Given the description of an element on the screen output the (x, y) to click on. 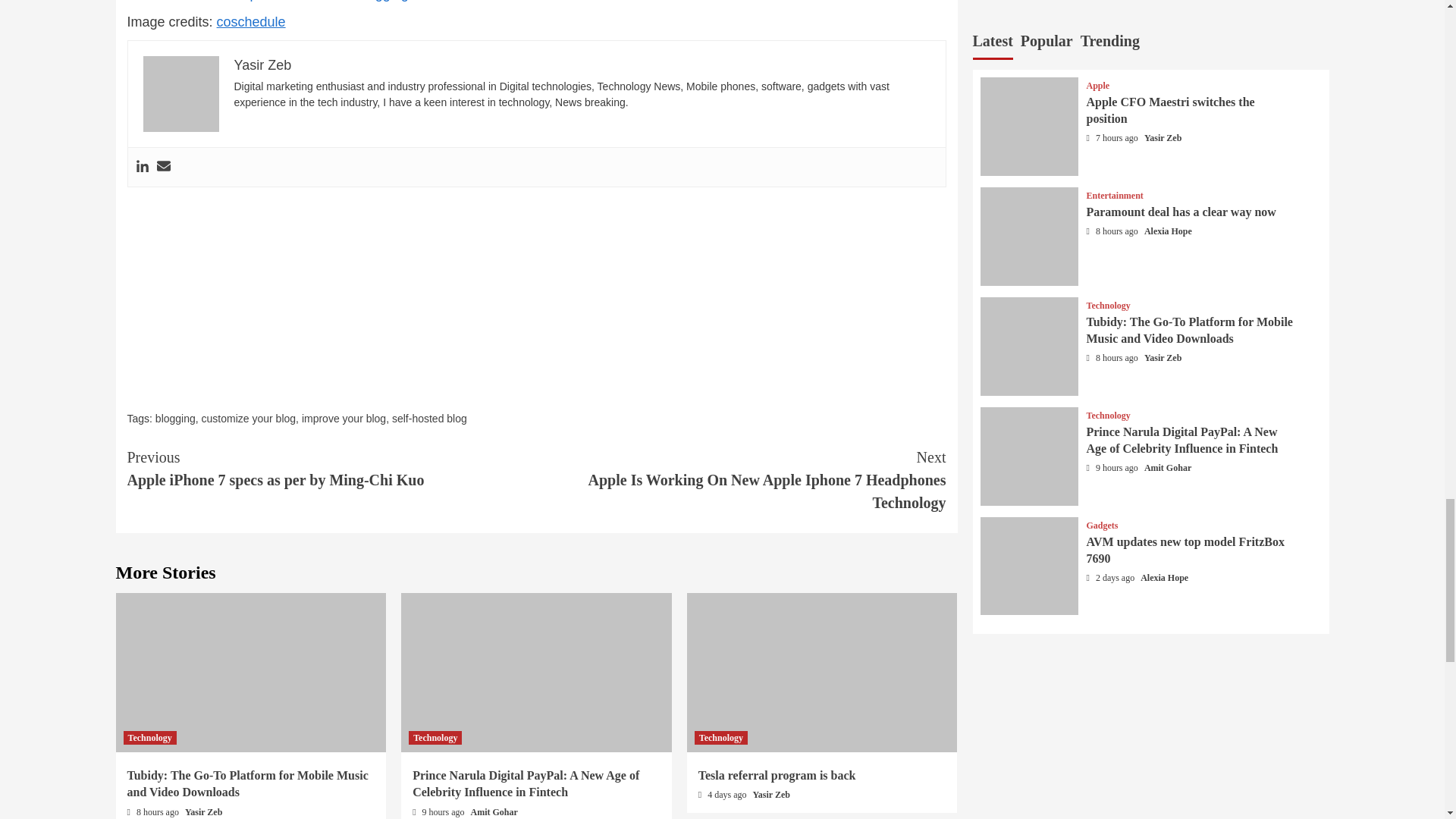
improve your blog (343, 418)
coschedule (250, 21)
self-hosted blog (429, 418)
Yasir Zeb (261, 64)
blogging (175, 418)
customize your blog (249, 418)
